Given the description of an element on the screen output the (x, y) to click on. 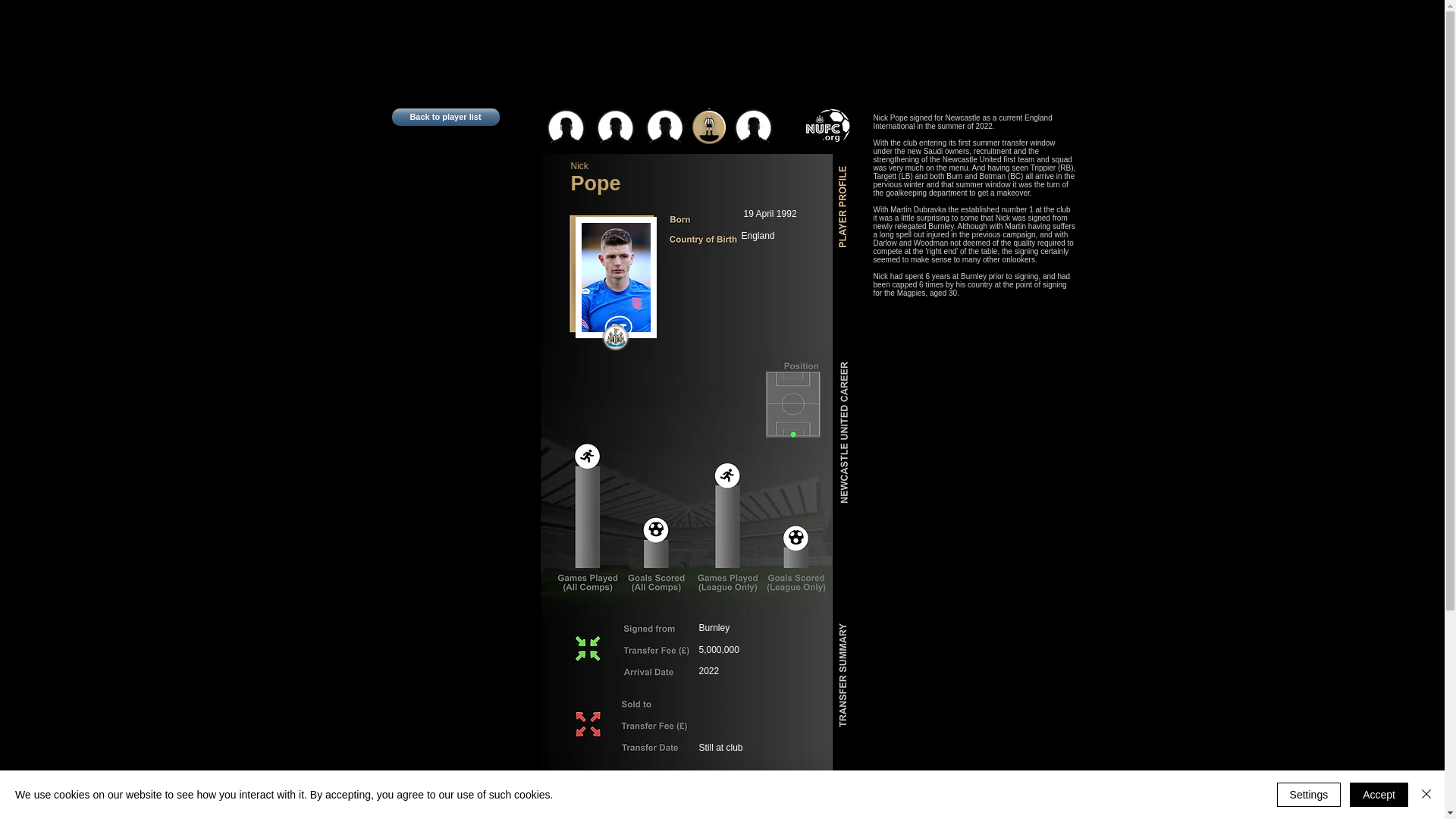
Accept (1378, 794)
England.jpg (762, 814)
Back to player list (445, 117)
Settings (1308, 794)
